Given the description of an element on the screen output the (x, y) to click on. 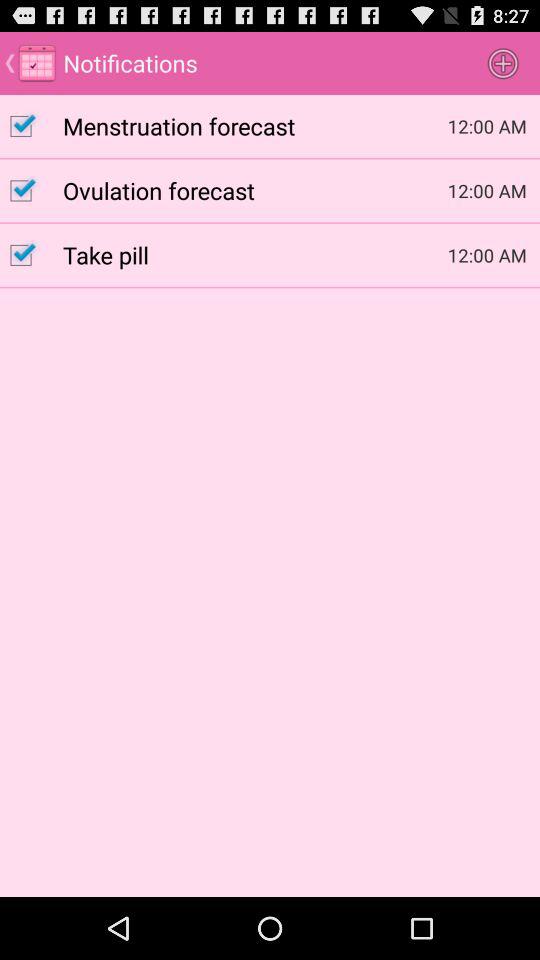
click the icon next to 12:00 am (255, 254)
